Given the description of an element on the screen output the (x, y) to click on. 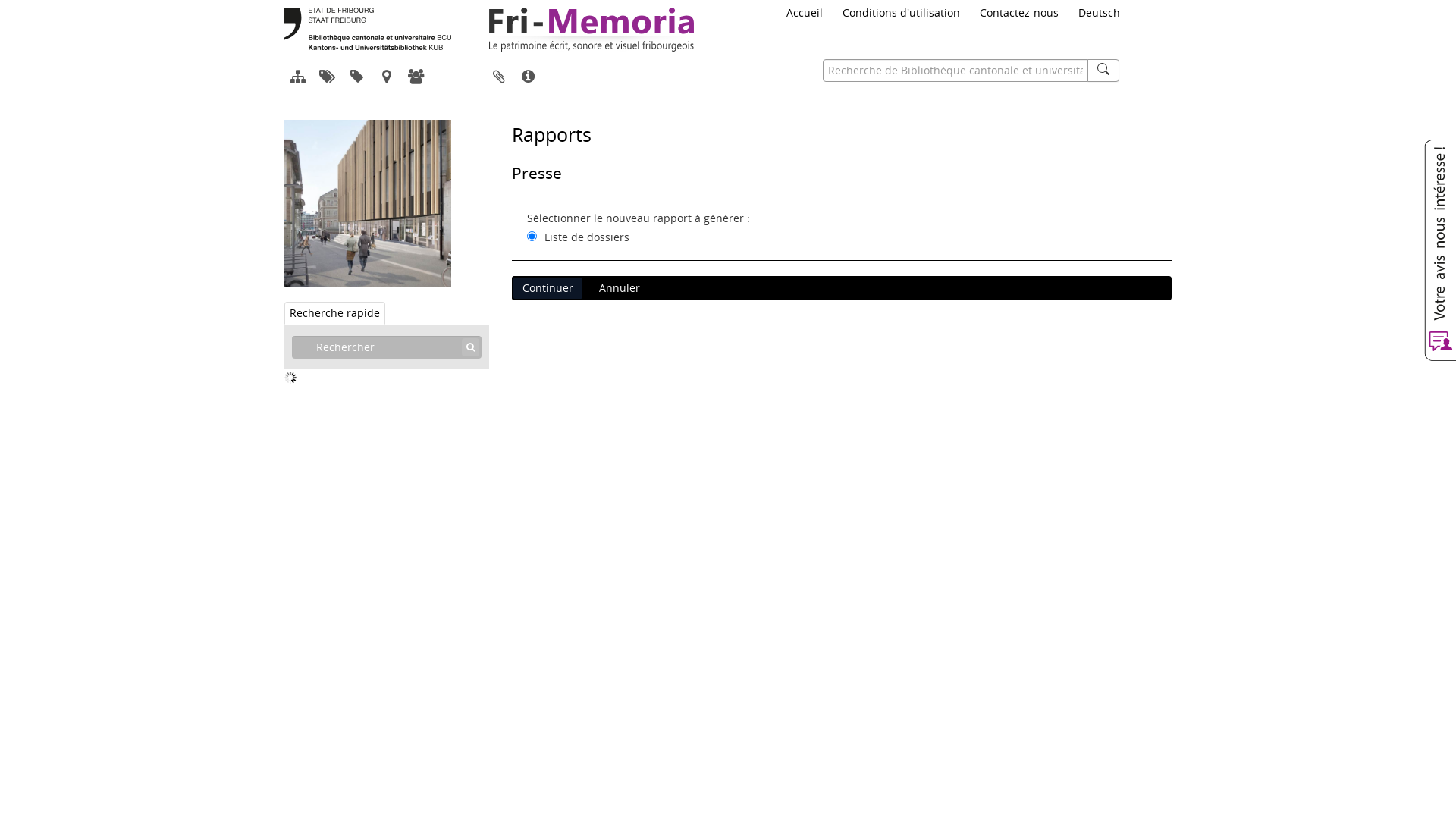
Contactez-nous Element type: text (1018, 12)
Deutsch Element type: text (1099, 12)
Presse-papier Element type: text (498, 76)
Conditions d'utilisation Element type: text (901, 12)
Annuler Element type: text (619, 288)
Personnes, familles, organisations Element type: hover (417, 77)
Continuer Element type: text (547, 288)
Accueil Element type: text (804, 12)
Lieux Element type: hover (387, 77)
Liens rapides Element type: text (527, 76)
Sujets Element type: hover (358, 77)
Arborescence Element type: hover (298, 77)
Recherche rapide Element type: text (334, 312)
Sections Element type: hover (328, 77)
